Given the description of an element on the screen output the (x, y) to click on. 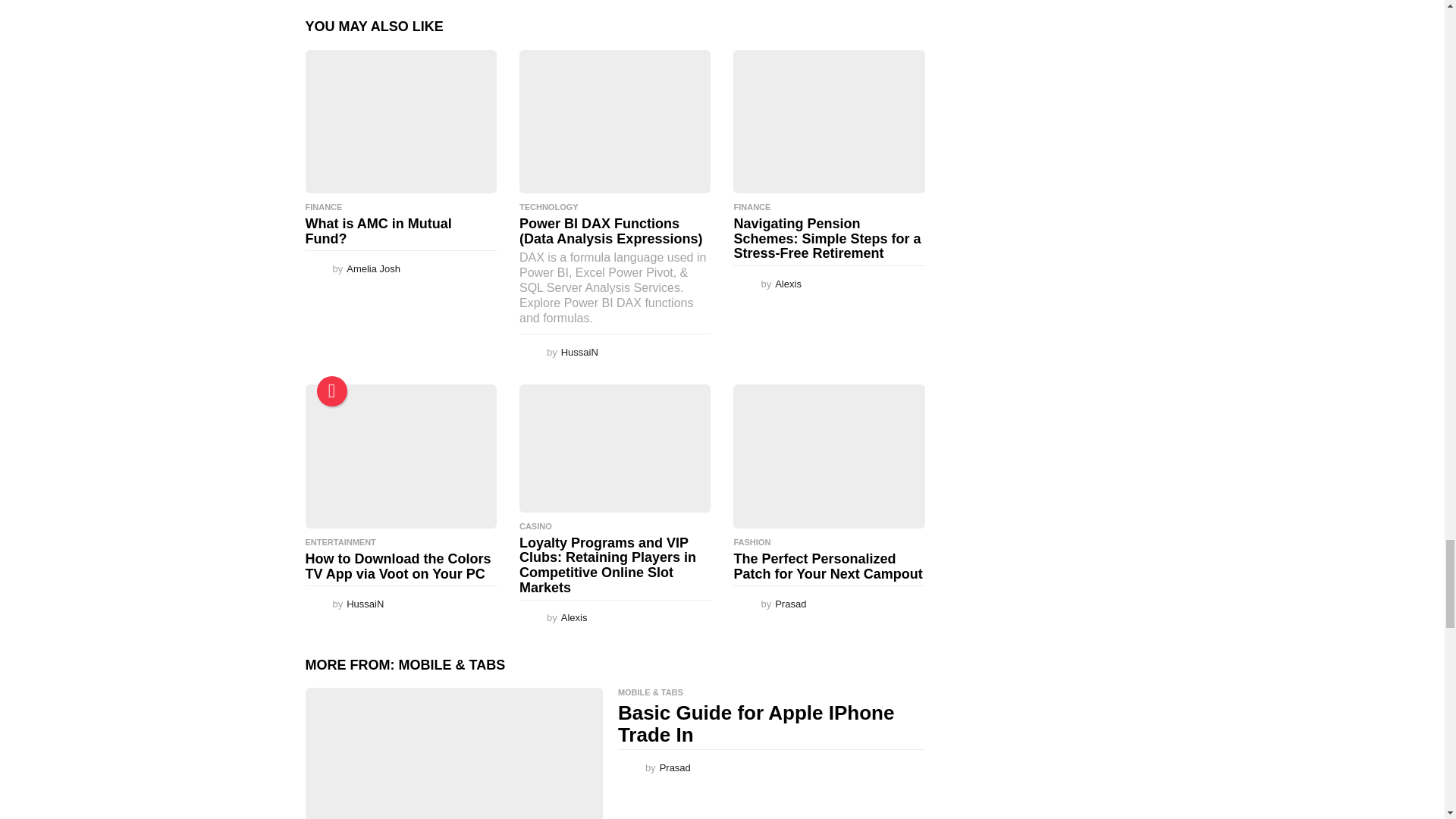
The Perfect Personalized Patch for Your Next Campout (828, 455)
Basic Guide for Apple IPhone Trade In (453, 753)
What is AMC in Mutual Fund? (400, 121)
Hot (332, 390)
How to Download the Colors TV App via Voot on Your PC (400, 455)
